Given the description of an element on the screen output the (x, y) to click on. 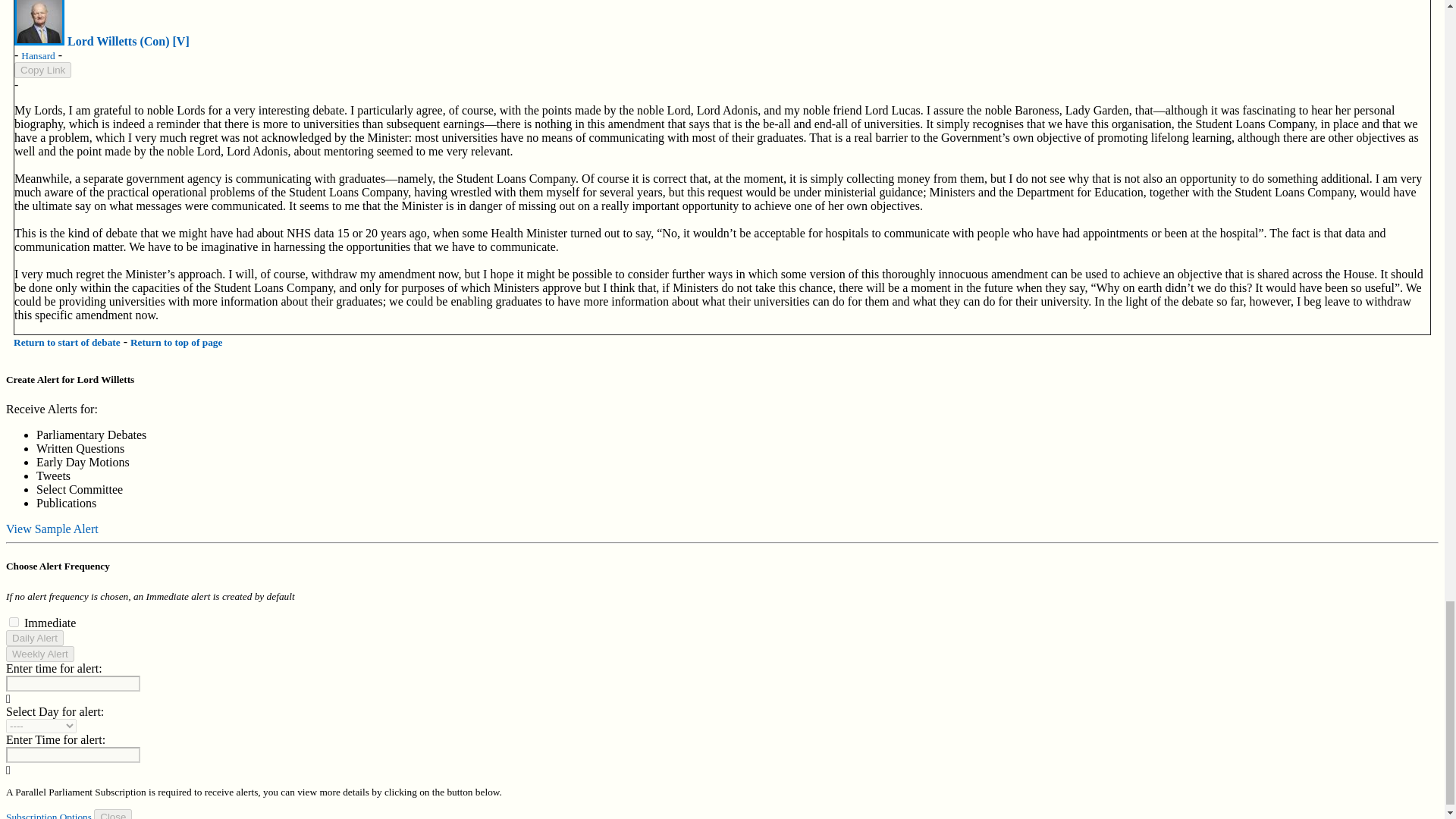
on (13, 622)
